Given the description of an element on the screen output the (x, y) to click on. 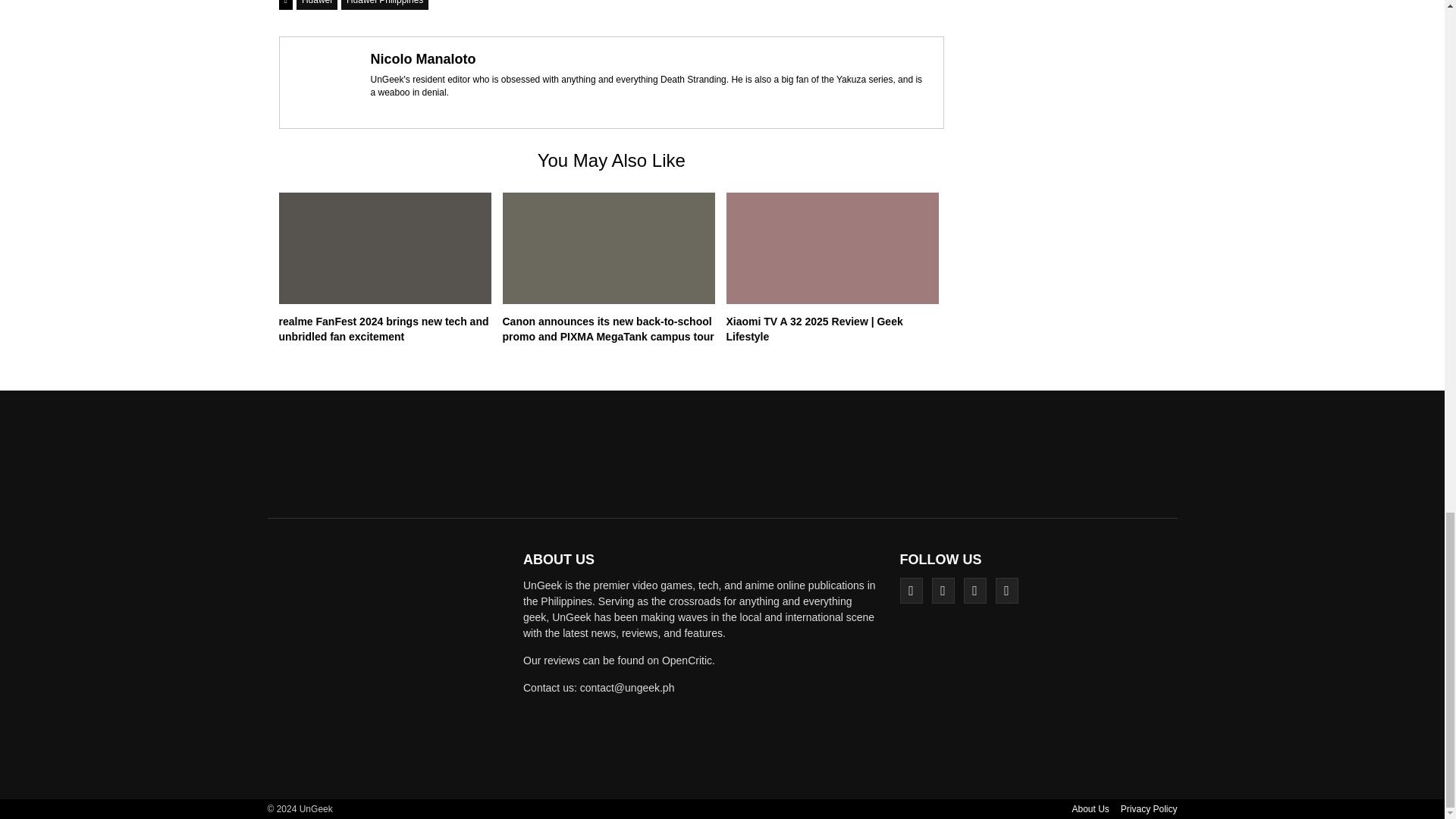
Huawei (317, 4)
UnGeek (389, 663)
Huawei Philippines (384, 4)
